Given the description of an element on the screen output the (x, y) to click on. 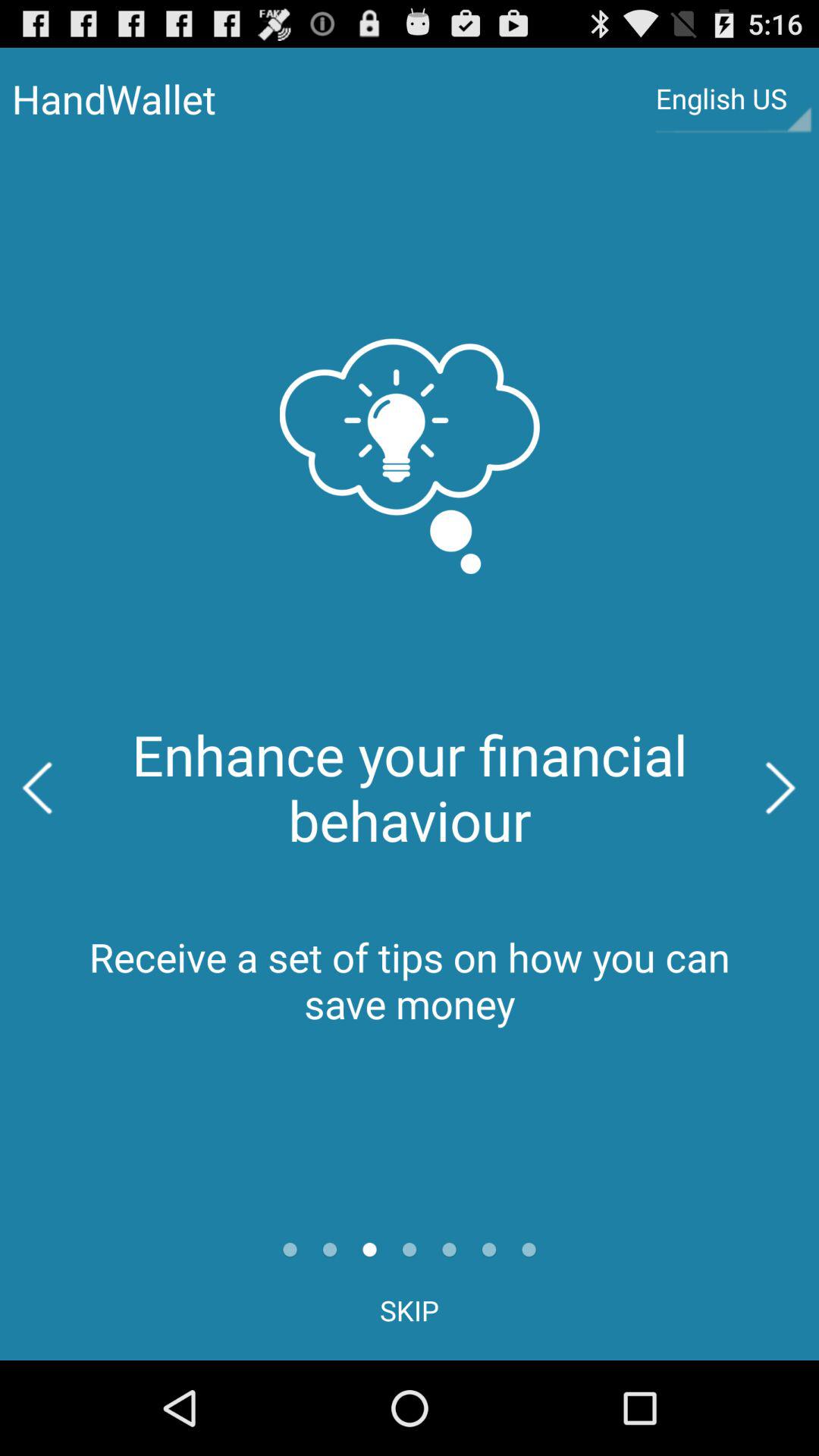
press skip (409, 1310)
